Given the description of an element on the screen output the (x, y) to click on. 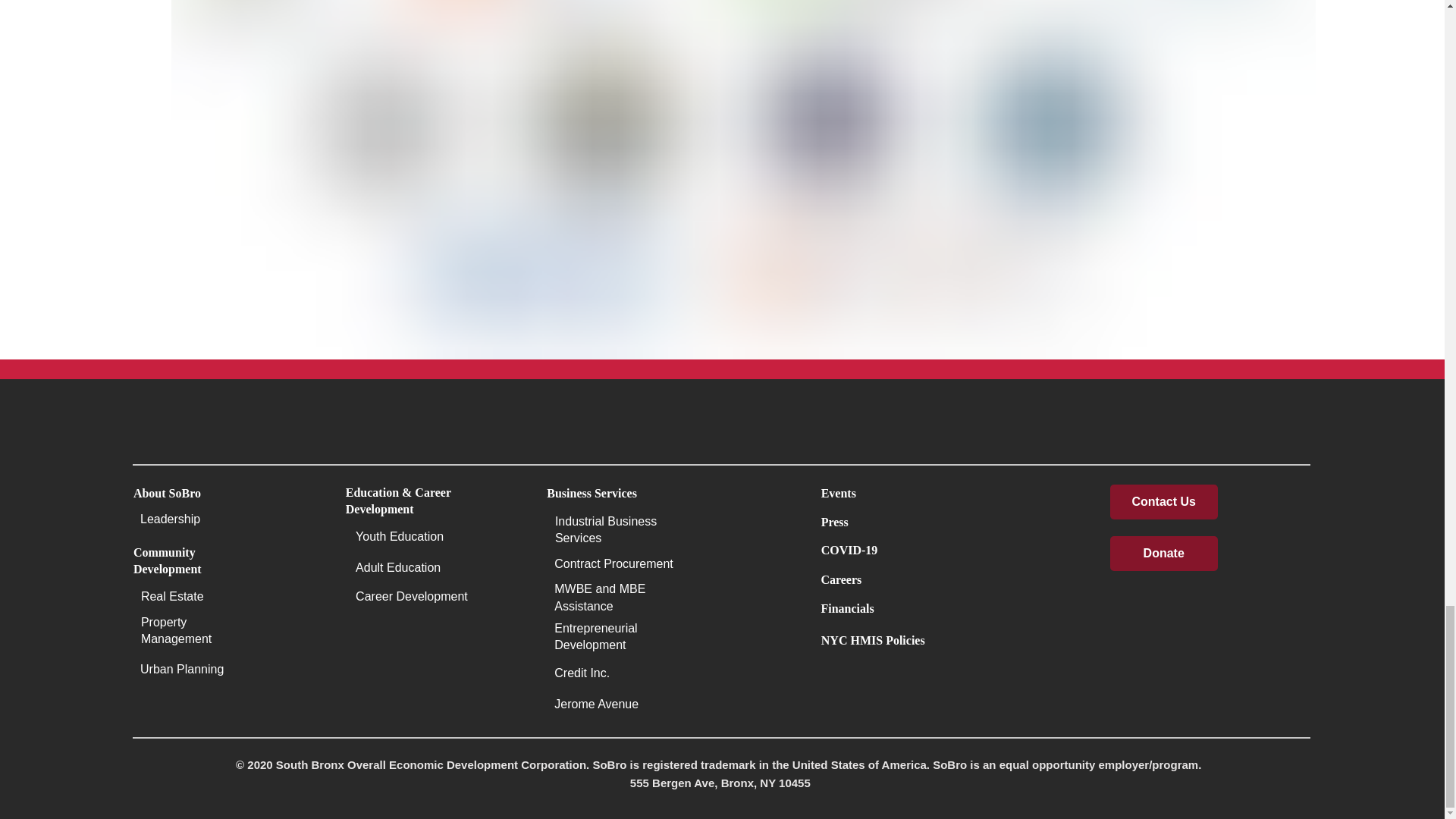
Donate (1163, 553)
Events (908, 493)
Contact Us (1163, 501)
Press (908, 522)
